Given the description of an element on the screen output the (x, y) to click on. 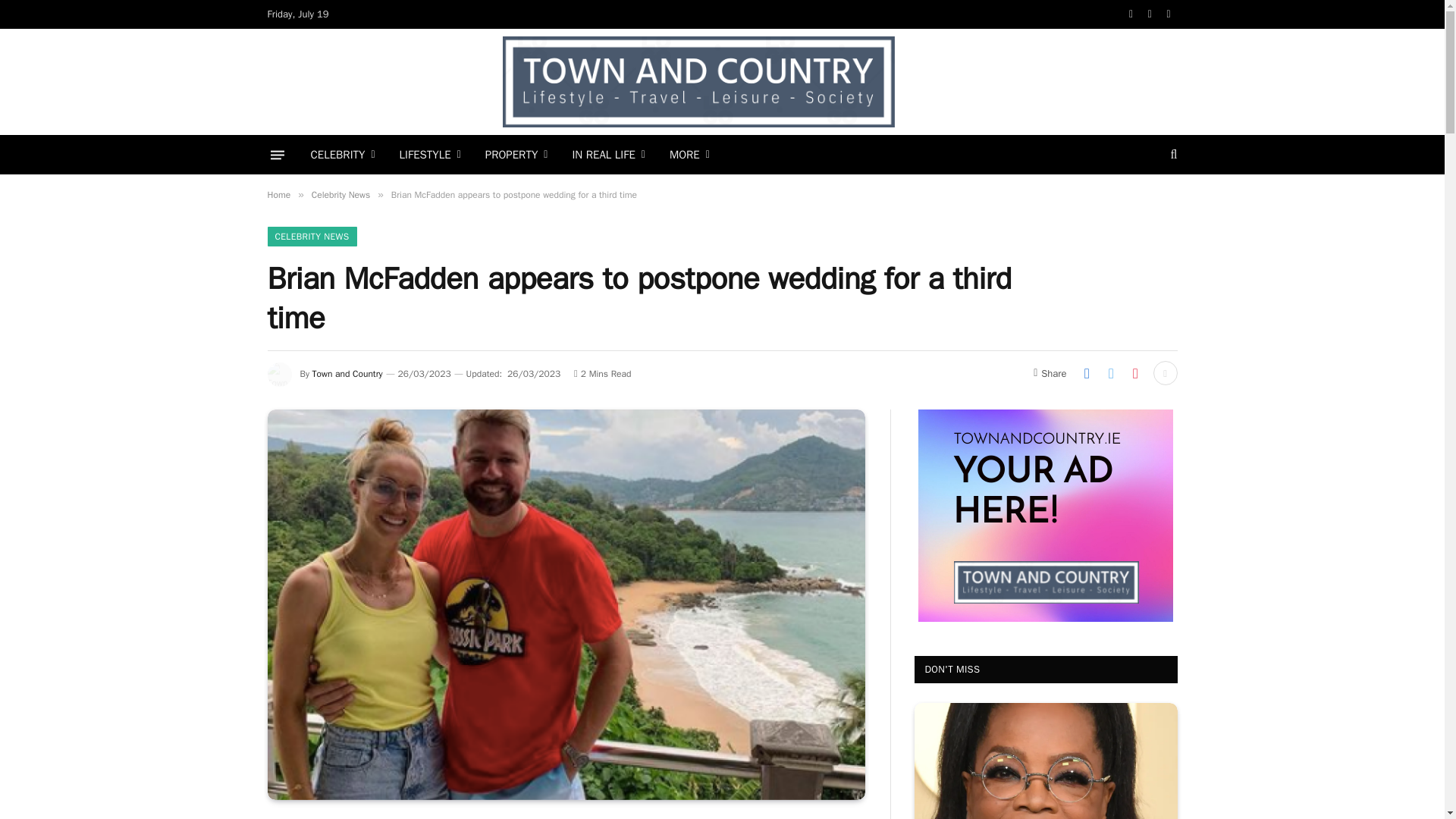
Facebook (1131, 14)
Twitter (1149, 14)
Instagram (1168, 14)
Town and Country (697, 81)
LIFESTYLE (430, 154)
CELEBRITY (342, 154)
